Given the description of an element on the screen output the (x, y) to click on. 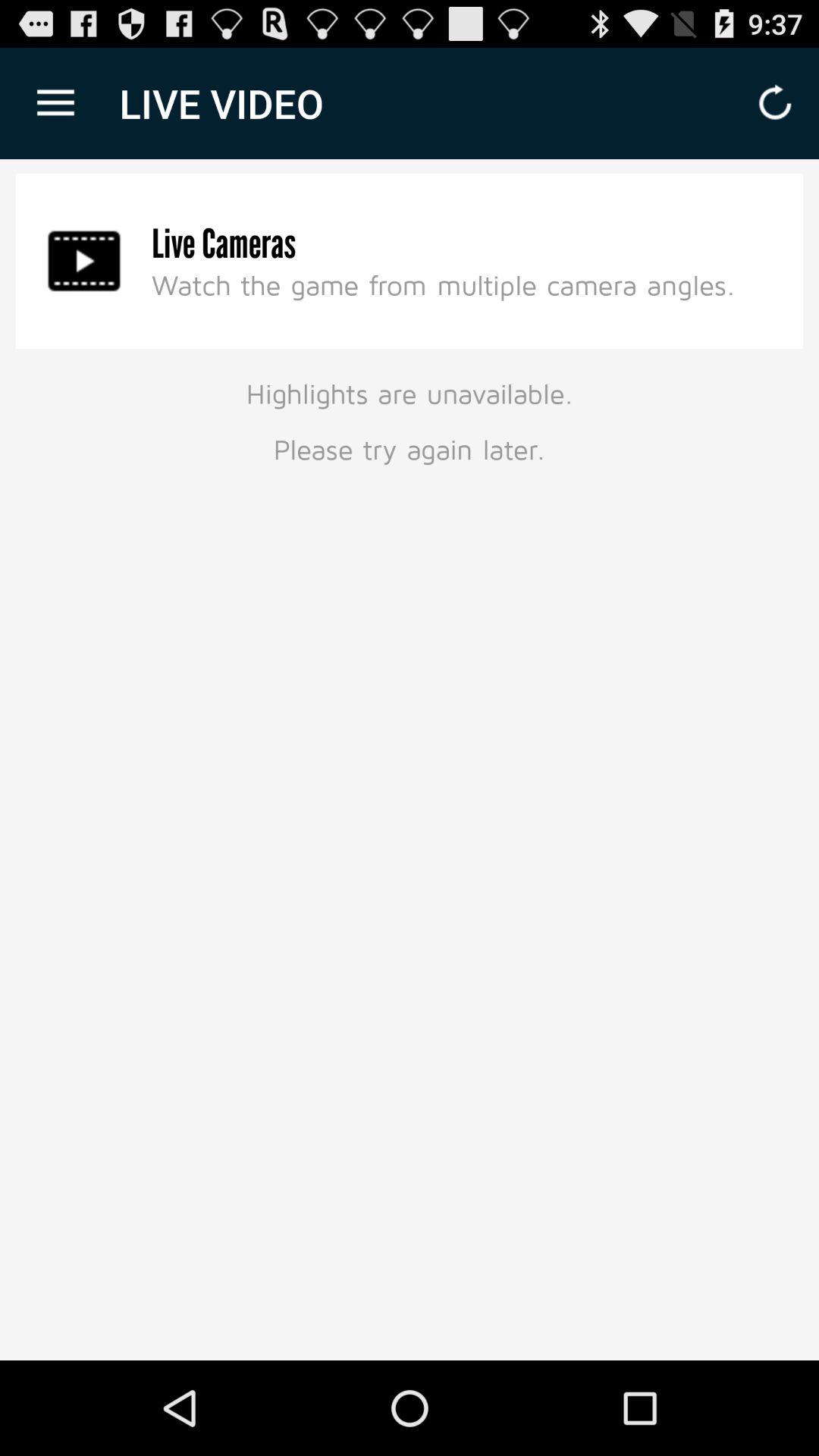
turn off the icon below live cameras item (443, 284)
